Given the description of an element on the screen output the (x, y) to click on. 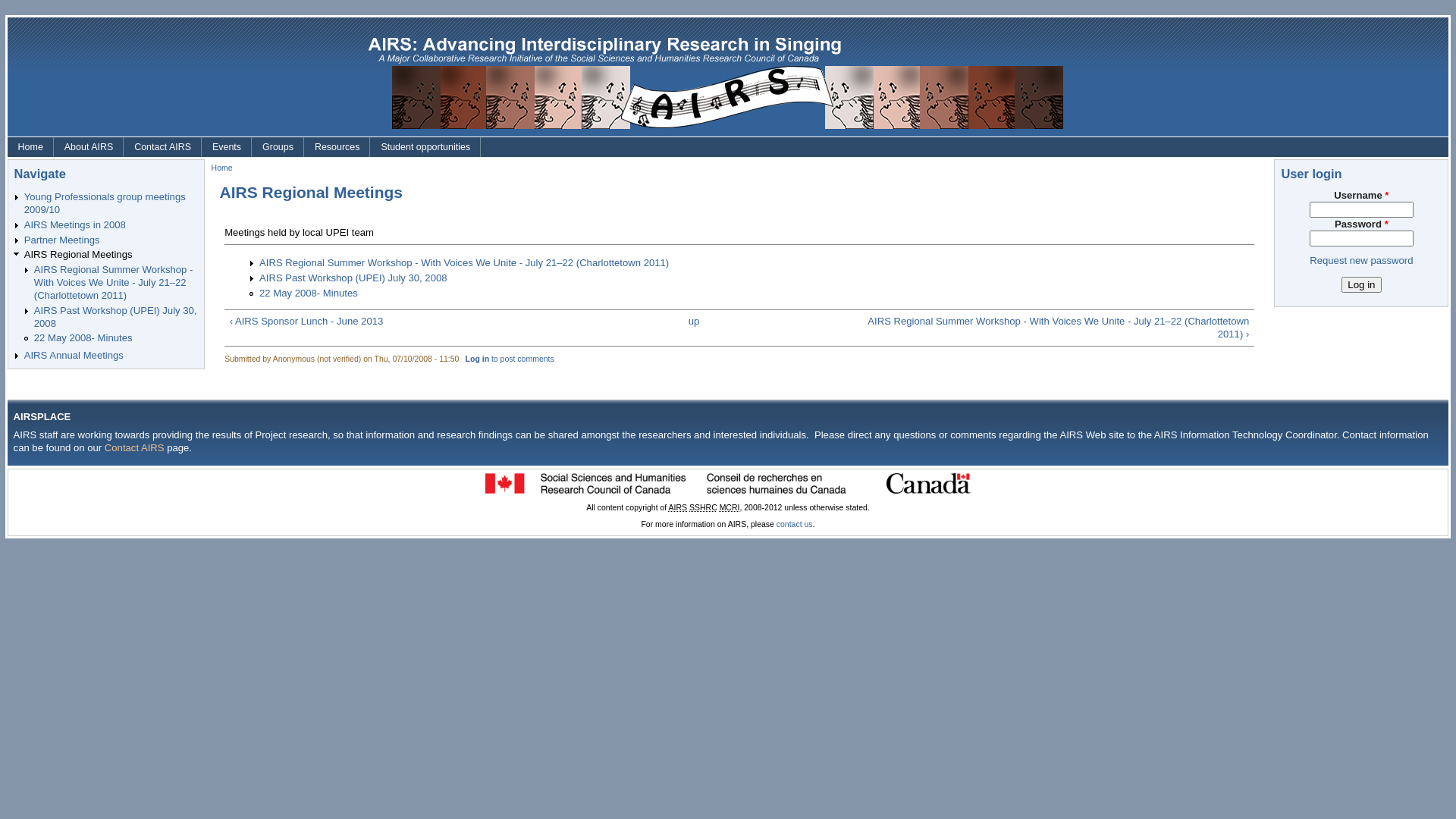
up Element type: text (693, 320)
AIRS Annual Meetings Element type: text (73, 354)
Young Professionals group meetings 2009/10 Element type: text (104, 203)
Groups Element type: text (277, 146)
Request new password Element type: text (1360, 260)
contact us Element type: text (794, 524)
Skip to main content Element type: text (45, 15)
Partner Meetings Element type: text (62, 239)
AIRS Regional Meetings Element type: text (78, 254)
22 May 2008- Minutes Element type: text (308, 292)
Student opportunities Element type: text (425, 146)
Contact AIRS Element type: text (162, 146)
Contact AIRS Element type: text (134, 447)
Log in Element type: text (477, 358)
Log in Element type: text (1360, 284)
22 May 2008- Minutes Element type: text (83, 337)
About AIRS Element type: text (88, 146)
Events Element type: text (226, 146)
Home Element type: text (221, 167)
AIRS Past Workshop (UPEI) July 30, 2008 Element type: text (115, 316)
Resources Element type: text (337, 146)
AIRS Past Workshop (UPEI) July 30, 2008 Element type: text (352, 277)
Home Element type: text (30, 146)
AIRS Meetings in 2008 Element type: text (74, 224)
